Given the description of an element on the screen output the (x, y) to click on. 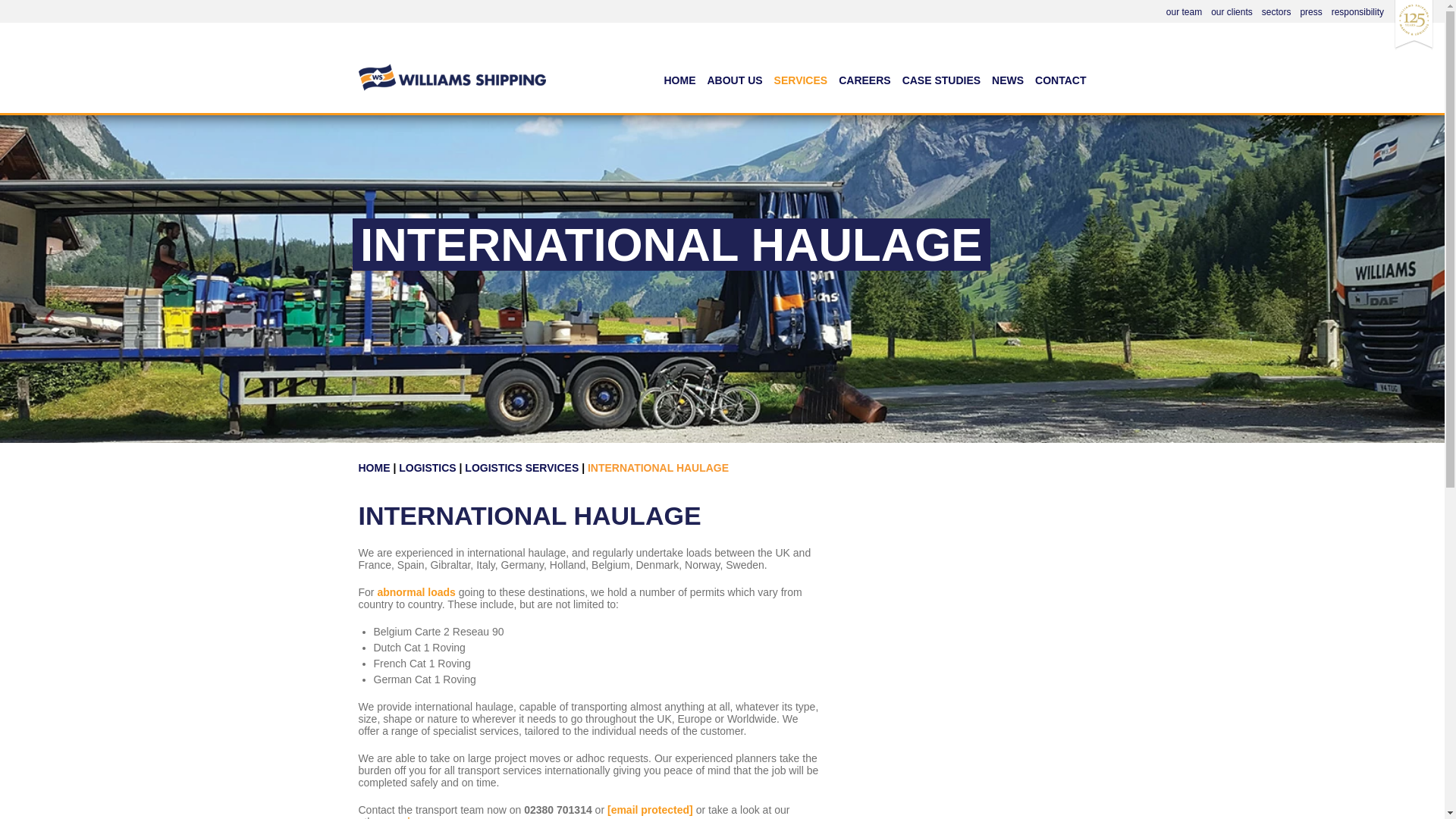
responsibility (1358, 11)
sectors (1276, 11)
our team (1184, 11)
our clients (1231, 11)
press (1311, 11)
ABOUT US (734, 85)
HOME (679, 85)
Responsibility (1358, 11)
Williams Shipping  (419, 59)
SERVICES (800, 85)
